Given the description of an element on the screen output the (x, y) to click on. 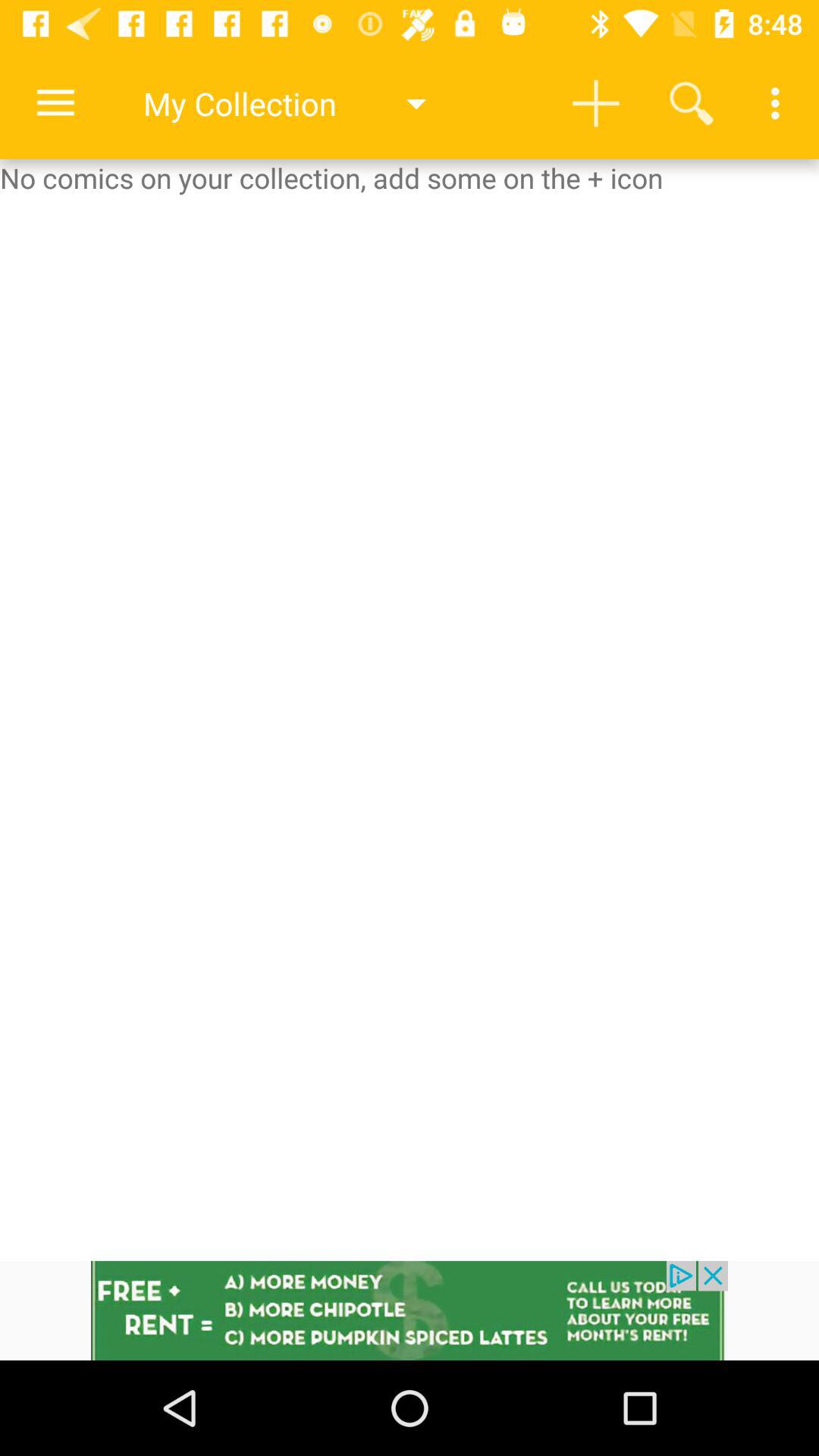
view advertisement option (409, 1310)
